Given the description of an element on the screen output the (x, y) to click on. 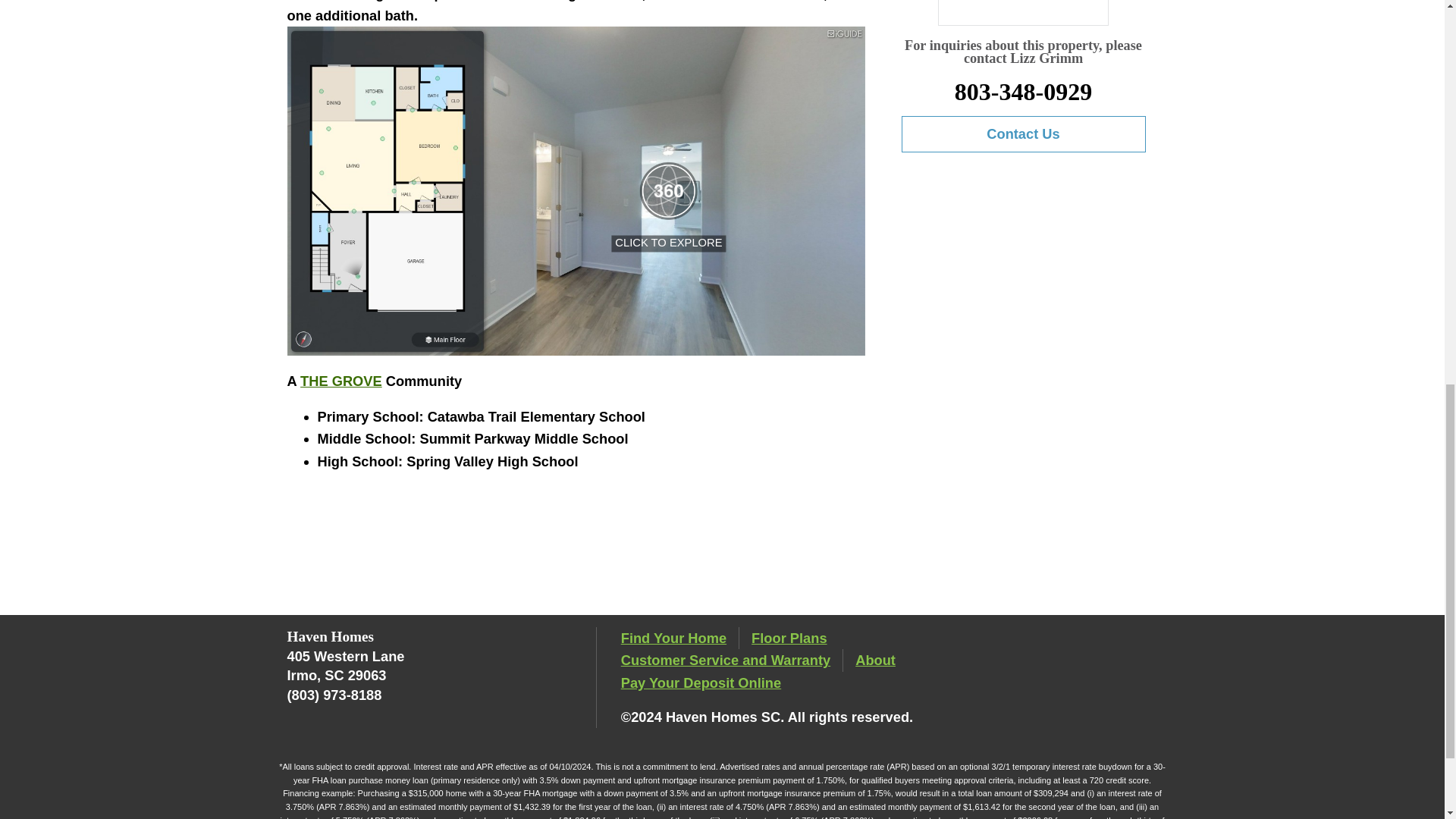
Customer Service and Warranty (725, 659)
Find Your Home (673, 638)
Floor Plans (789, 638)
Contact Us (1022, 133)
Pay Your Deposit Online (700, 682)
About (875, 659)
THE GROVE (340, 381)
